Given the description of an element on the screen output the (x, y) to click on. 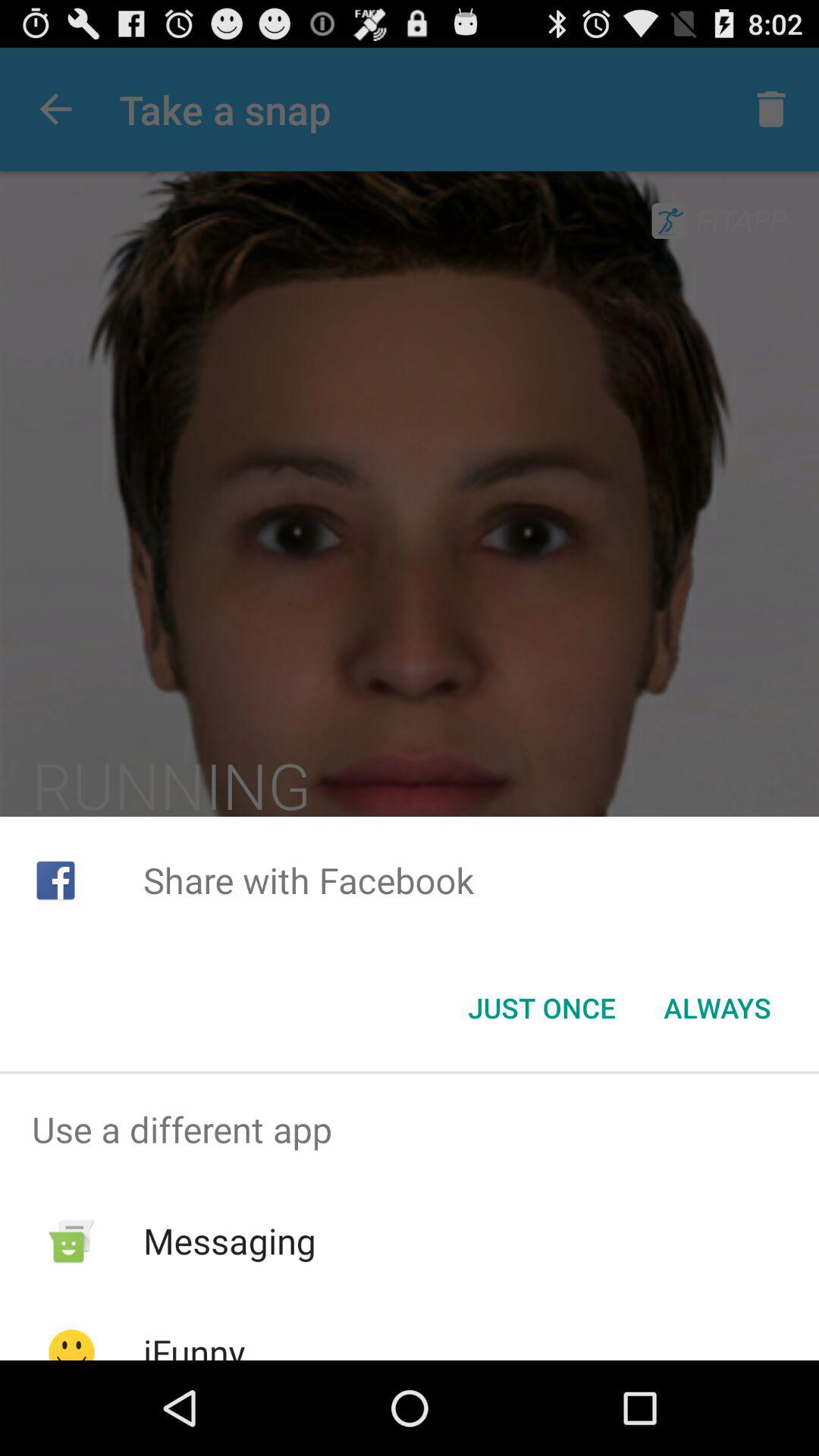
choose app below the share with facebook item (541, 1007)
